Given the description of an element on the screen output the (x, y) to click on. 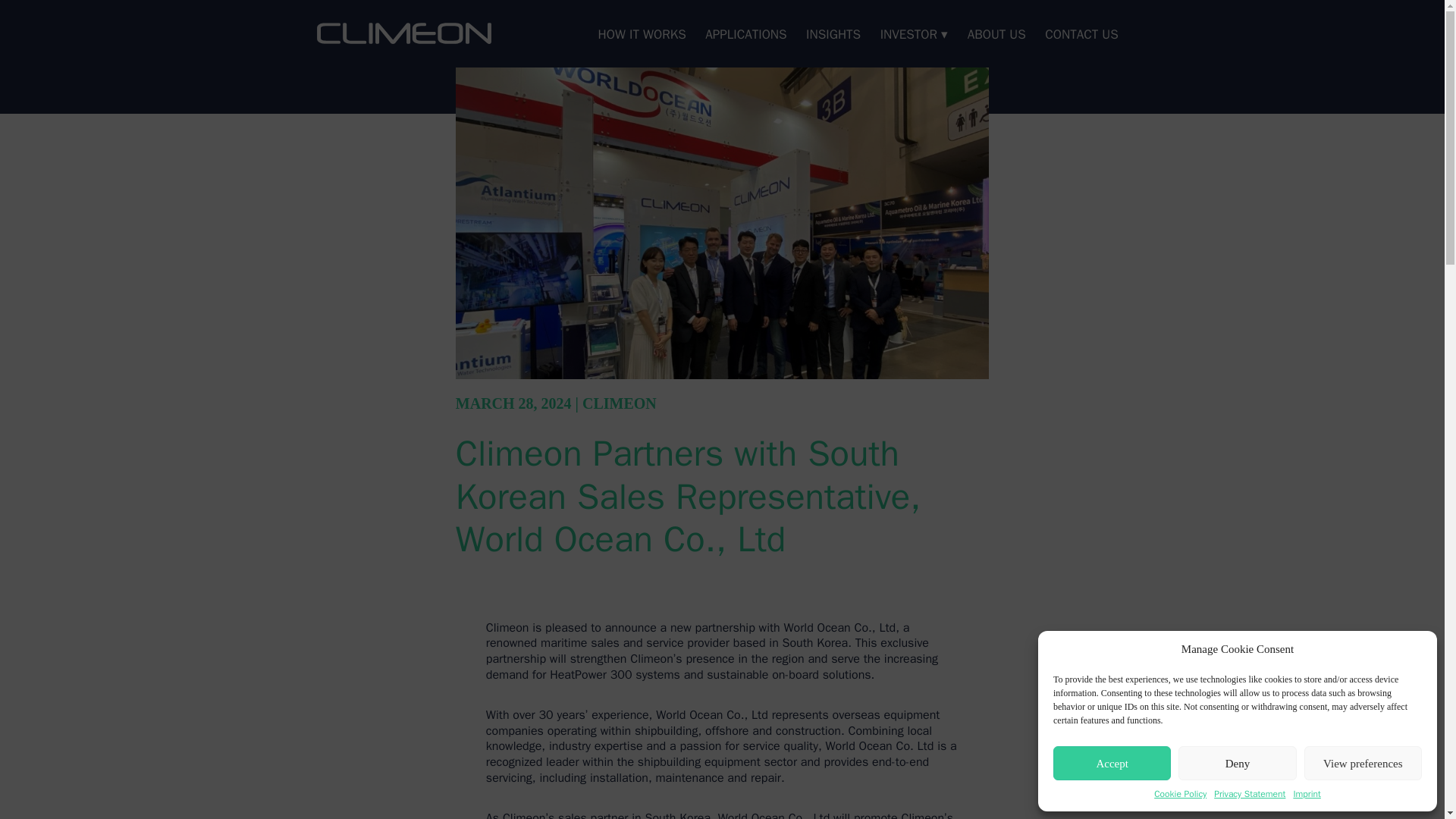
View preferences (1363, 763)
CONTACT US (1081, 38)
Deny (1236, 763)
Accept (1111, 763)
Cookie Policy (1180, 793)
Privacy Statement (1249, 793)
ABOUT US (996, 38)
HOW IT WORKS (641, 38)
APPLICATIONS (745, 38)
INSIGHTS (833, 38)
